Given the description of an element on the screen output the (x, y) to click on. 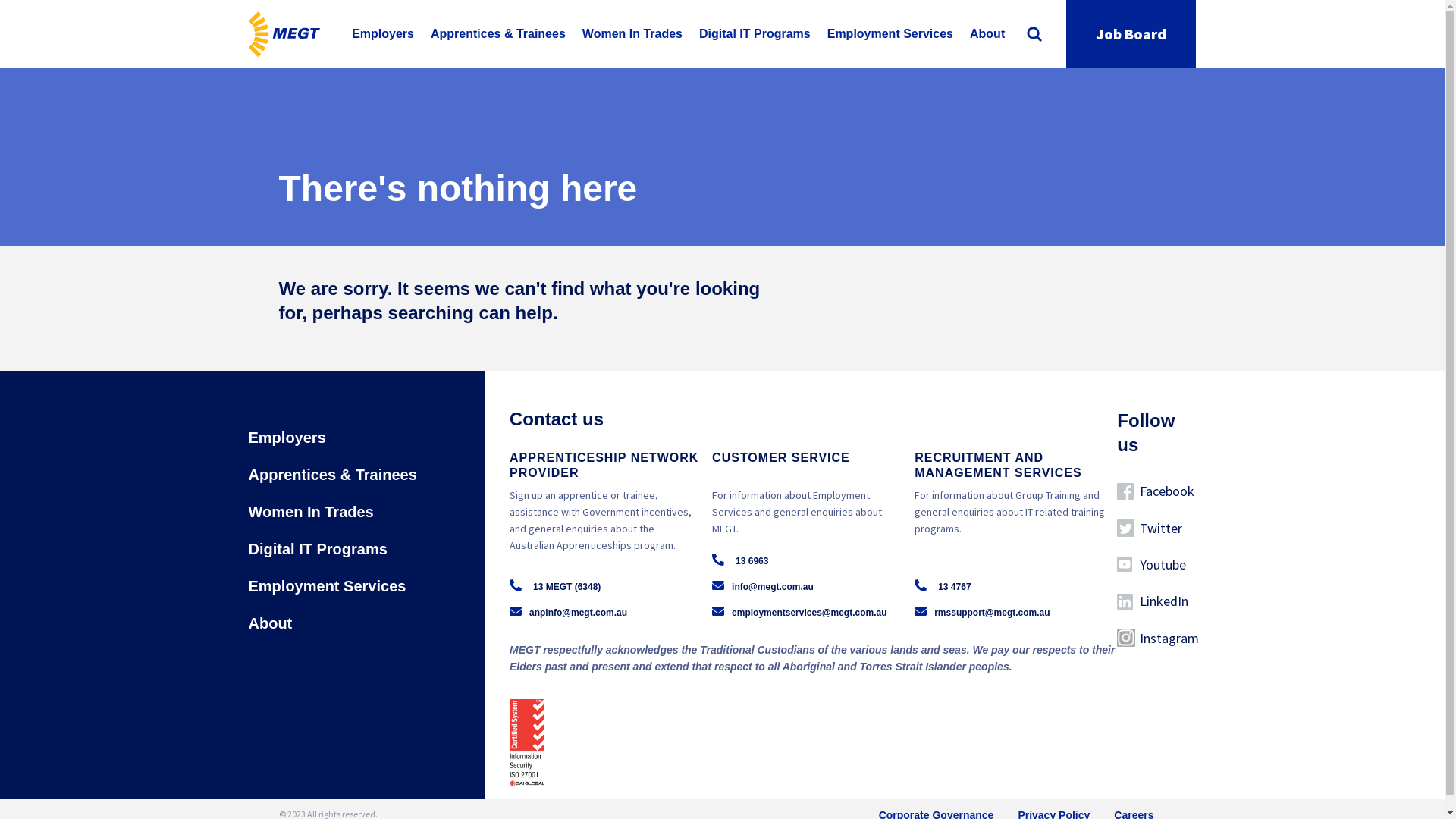
info@megt.com.au Element type: text (762, 586)
rmssupport@megt.com.au Element type: text (981, 611)
employmentservices@megt.com.au Element type: text (799, 611)
Instagram Element type: text (1156, 638)
Employment Services Element type: text (890, 34)
Digital IT Programs Element type: text (321, 548)
Apprentices & Trainees Element type: text (335, 473)
Job Board Element type: text (1130, 34)
Women In Trades Element type: text (632, 34)
13 6963 Element type: text (751, 561)
13 4767 Element type: text (954, 586)
Employers Element type: text (382, 34)
About Element type: text (987, 34)
Apprentices & Trainees Element type: text (498, 34)
anpinfo@megt.com.au Element type: text (568, 611)
Facebook Element type: text (1156, 491)
Youtube Element type: text (1156, 564)
Digital IT Programs Element type: text (754, 34)
LinkedIn Element type: text (1156, 601)
Skip to main content Element type: text (0, 0)
13 MEGT (6348) Element type: text (566, 586)
Employers Element type: text (290, 441)
About Element type: text (273, 622)
Women In Trades Element type: text (314, 511)
Employment Services Element type: text (330, 585)
Twitter Element type: text (1156, 527)
